Given the description of an element on the screen output the (x, y) to click on. 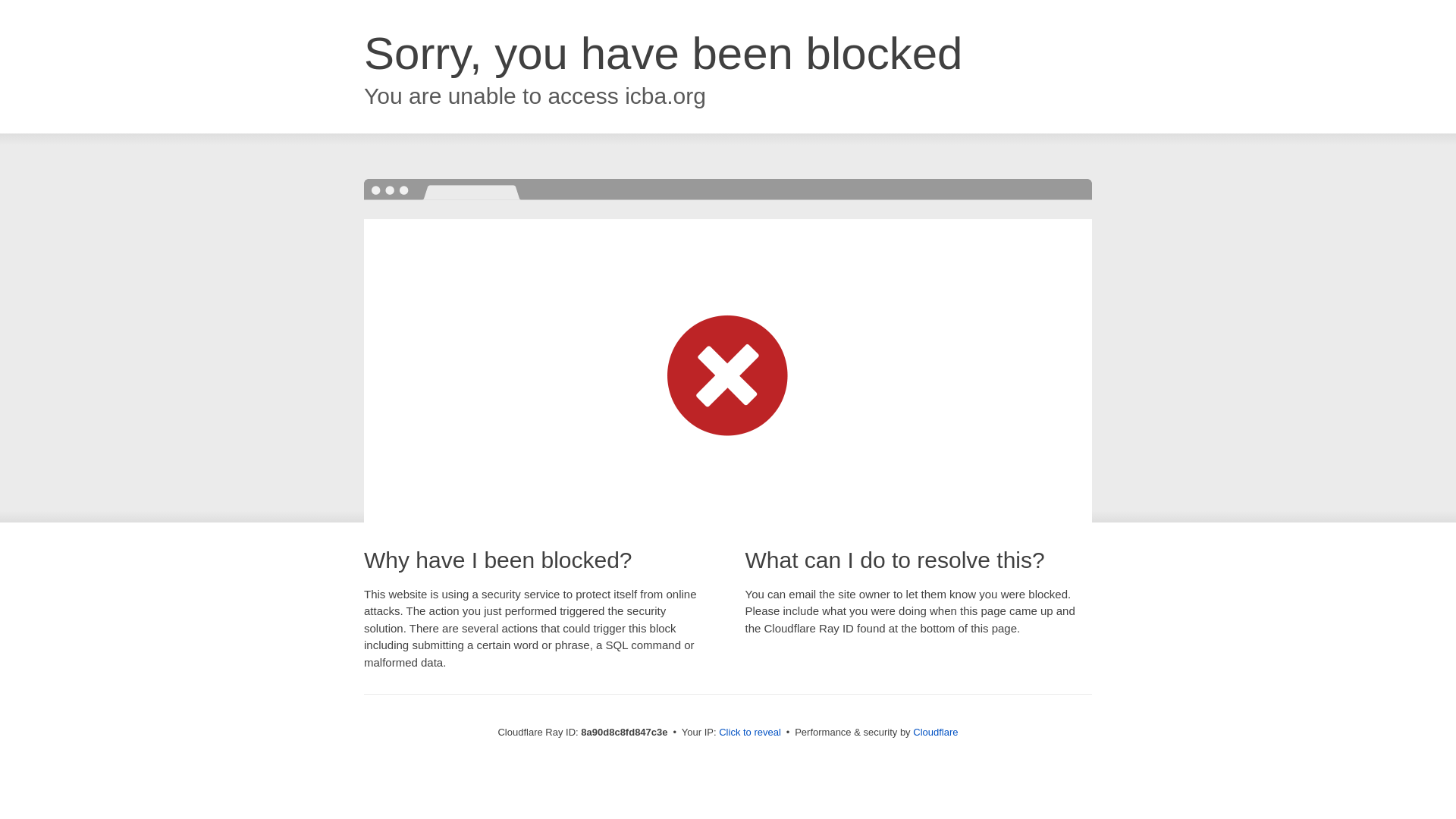
Click to reveal (749, 732)
Cloudflare (935, 731)
